Given the description of an element on the screen output the (x, y) to click on. 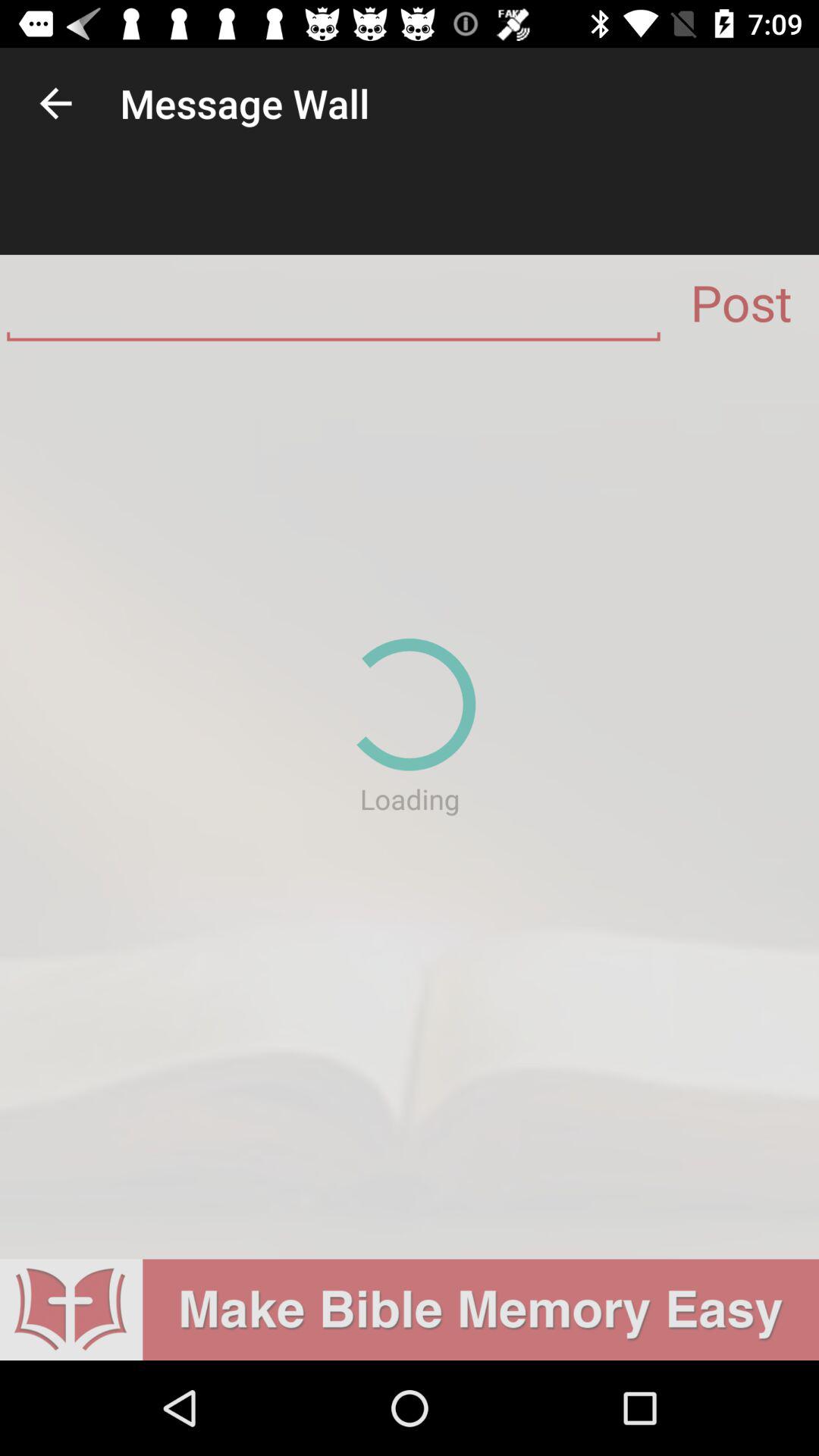
enter message (333, 308)
